Given the description of an element on the screen output the (x, y) to click on. 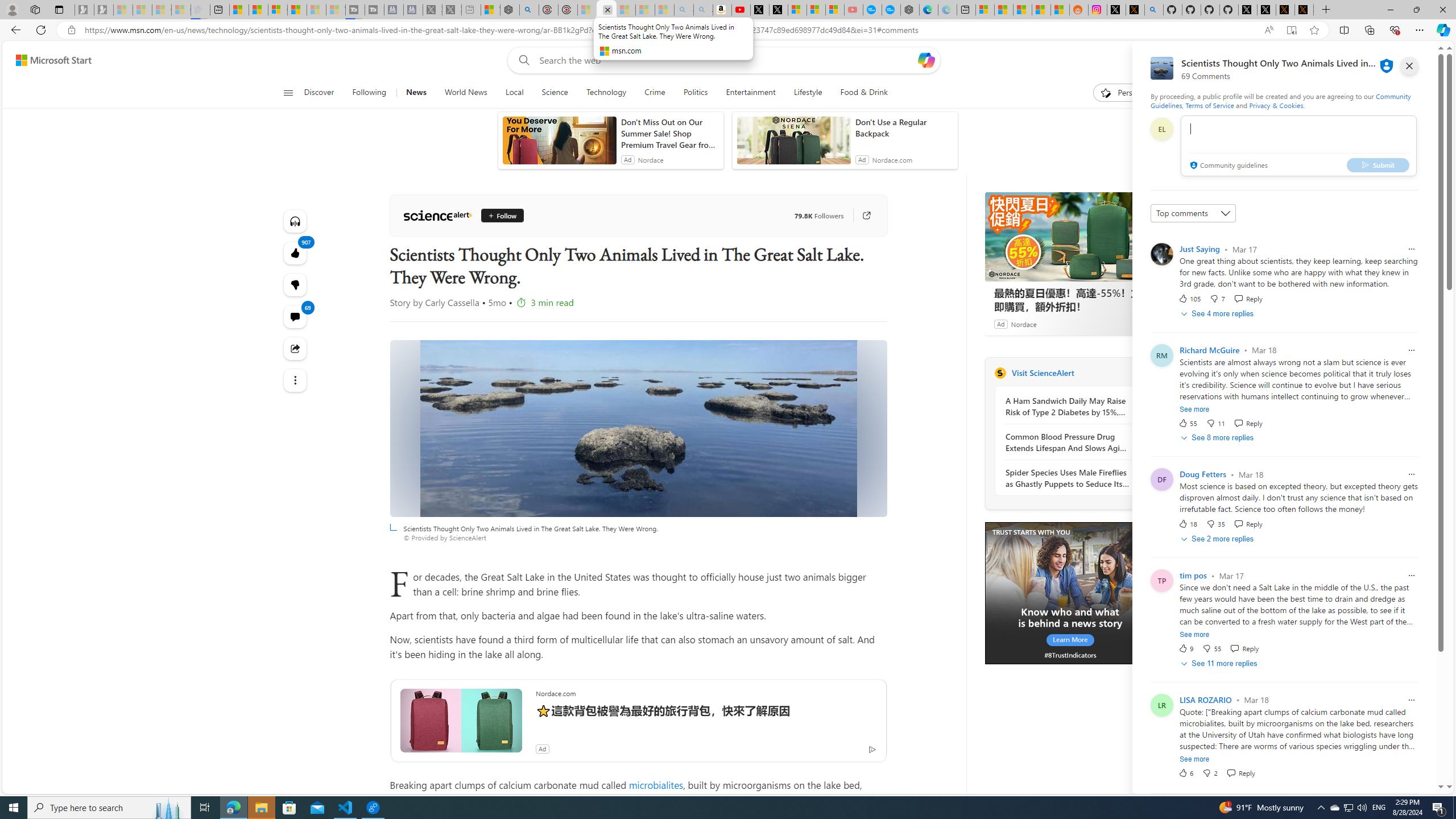
907 Like (295, 252)
Report comment (1411, 699)
close (1409, 65)
Profile / X (1247, 9)
See 11 more replies (1219, 663)
Submit (1377, 164)
Doug Fetters (1203, 474)
Follow (502, 215)
